Given the description of an element on the screen output the (x, y) to click on. 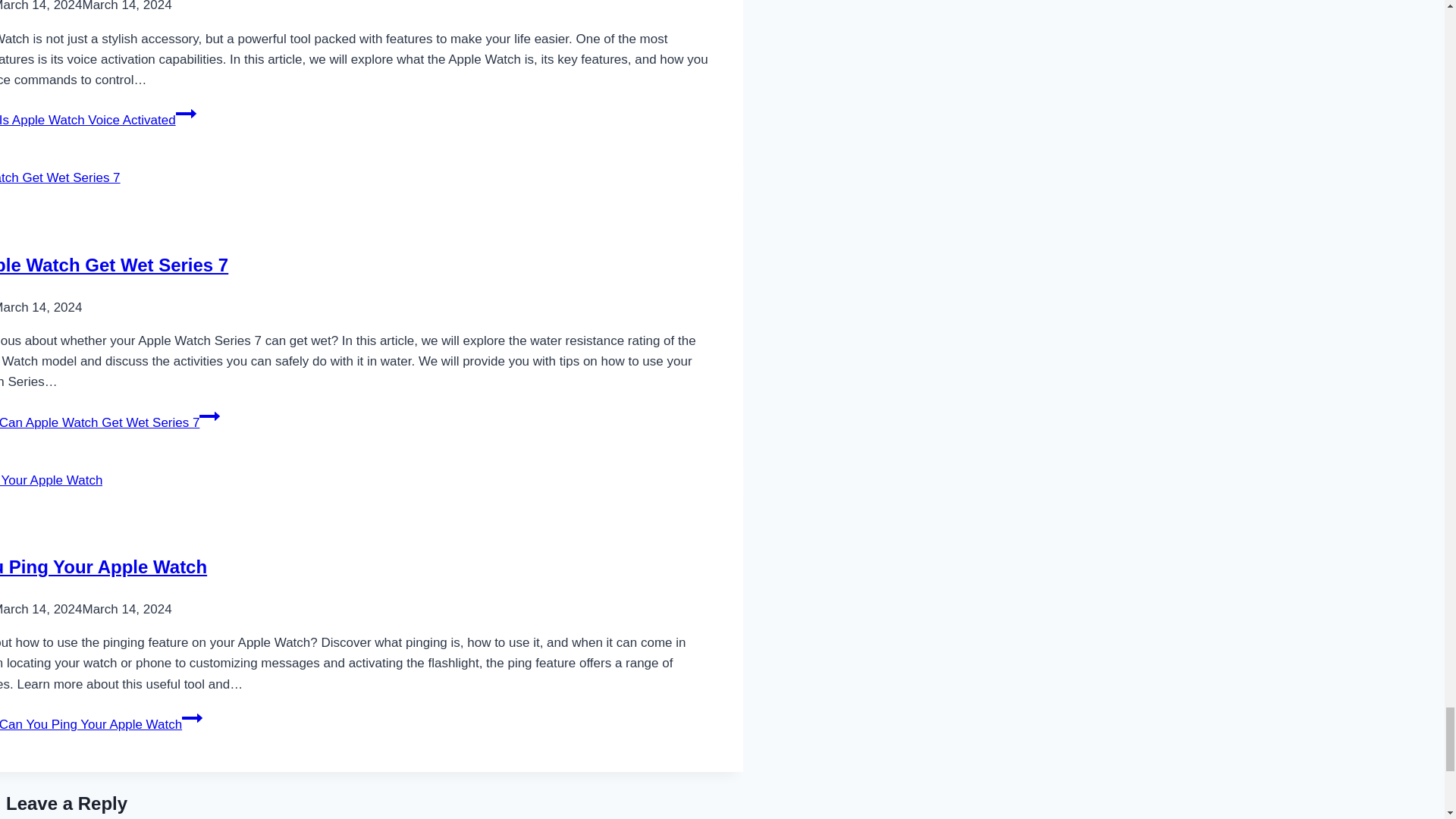
Can Apple Watch Get Wet Series 7 (114, 264)
Continue (192, 717)
Continue (186, 113)
Continue (209, 415)
Read More Is Apple Watch Voice ActivatedContinue (98, 120)
Read More Can Apple Watch Get Wet Series 7Continue (109, 422)
